Given the description of an element on the screen output the (x, y) to click on. 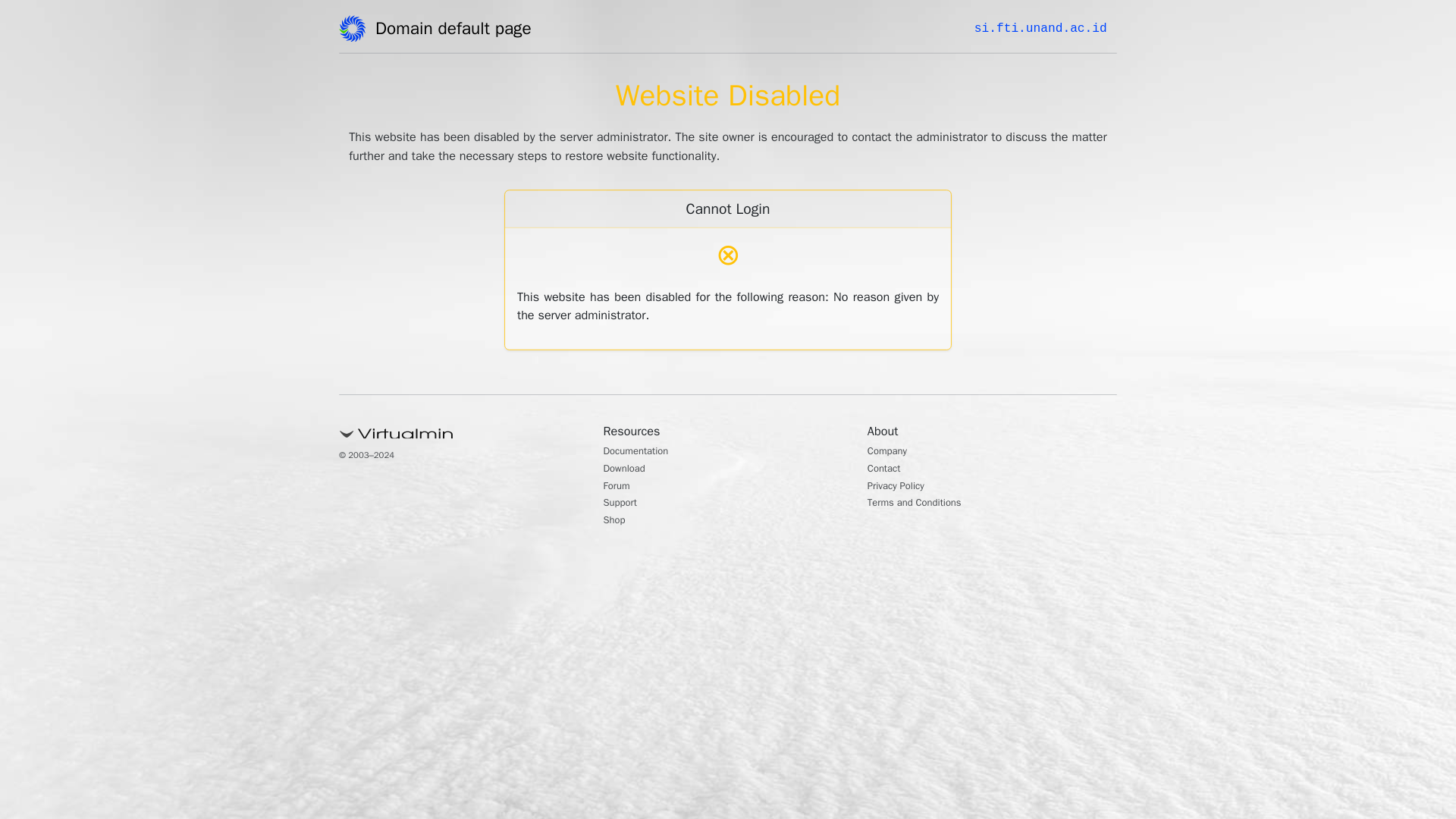
Domain default page (457, 31)
Forum (620, 487)
Privacy Policy (902, 487)
Support (624, 503)
Terms and Conditions (925, 503)
Contact (887, 469)
Shop (617, 521)
Download (629, 469)
Documentation (644, 452)
Company (891, 452)
